Given the description of an element on the screen output the (x, y) to click on. 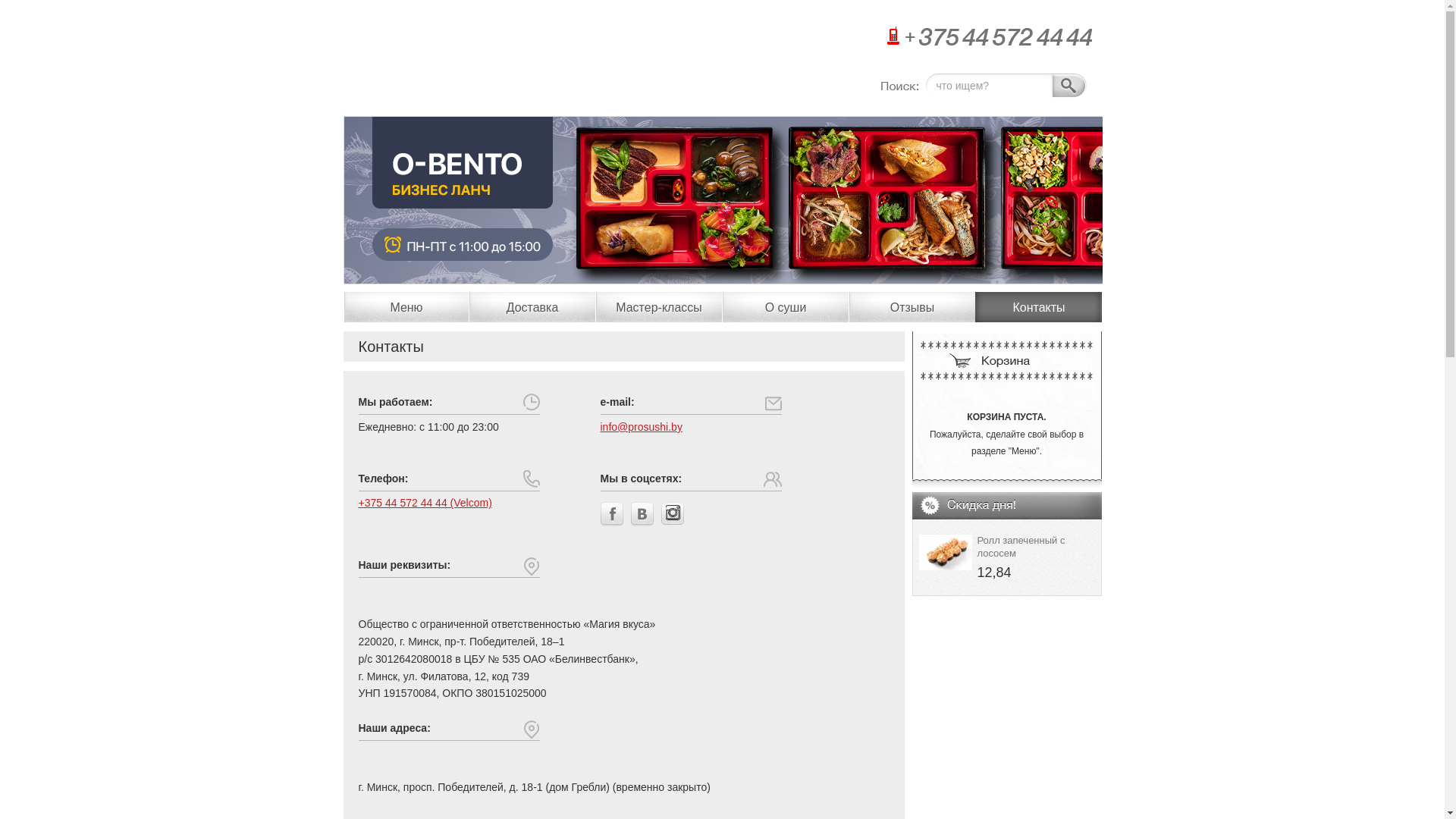
info@prosushi.by Element type: text (641, 426)
+375 44 572 44 44 (Velcom) Element type: text (424, 502)
